Given the description of an element on the screen output the (x, y) to click on. 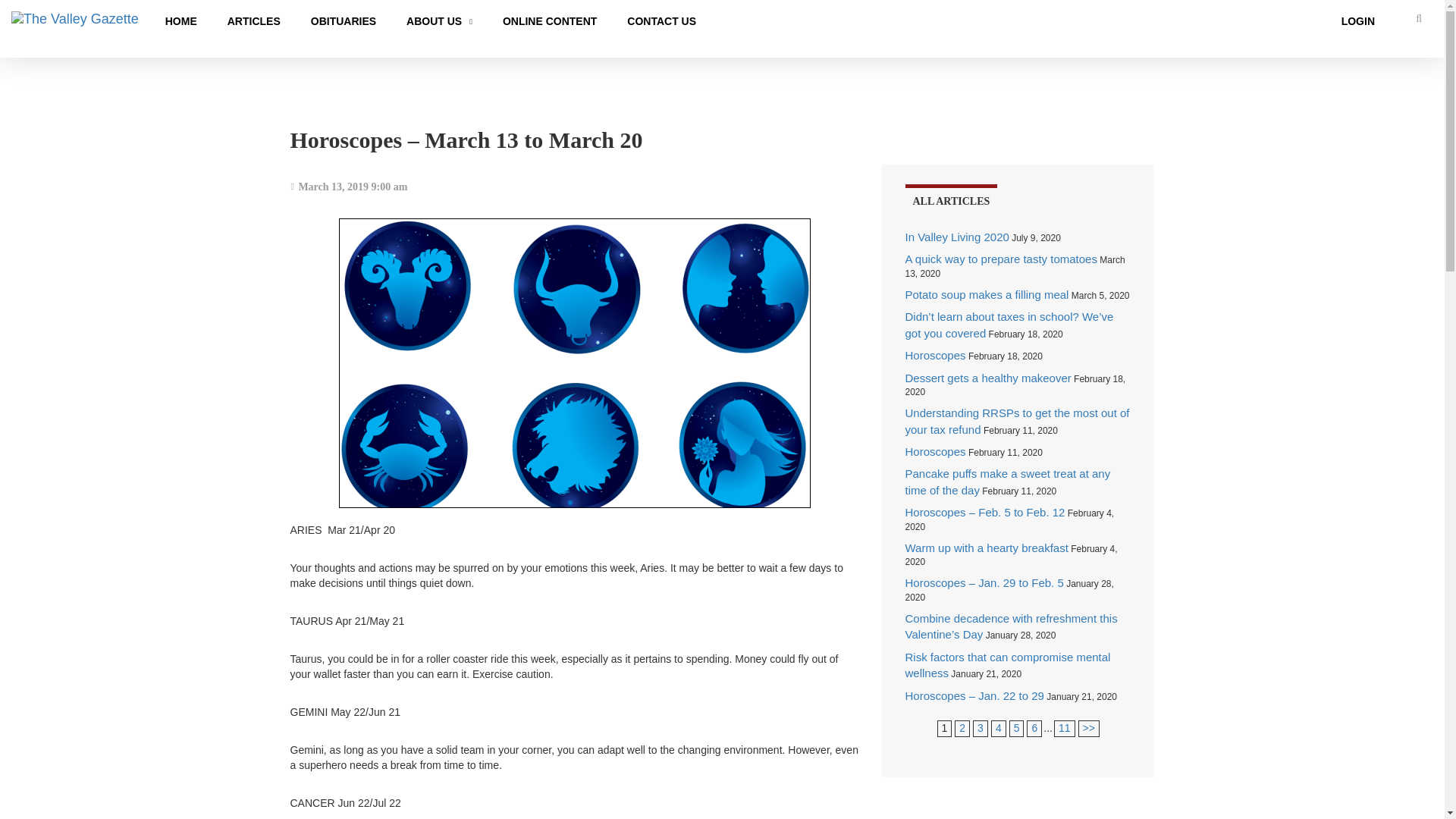
March 13, 2019 9:00 am (349, 186)
Understanding RRSPs to get the most out of your tax refund (1017, 420)
ABOUT US (439, 21)
Dessert gets a healthy makeover (988, 377)
In Valley Living 2020 (957, 236)
Potato soup makes a filling meal (986, 294)
LOGIN (1358, 21)
Horoscopes (935, 354)
The Valley Gazette -  (74, 21)
A quick way to prepare tasty tomatoes (1001, 258)
HOME (180, 21)
OBITUARIES (343, 21)
CONTACT US (661, 21)
2 (1088, 727)
11 (1064, 727)
